Given the description of an element on the screen output the (x, y) to click on. 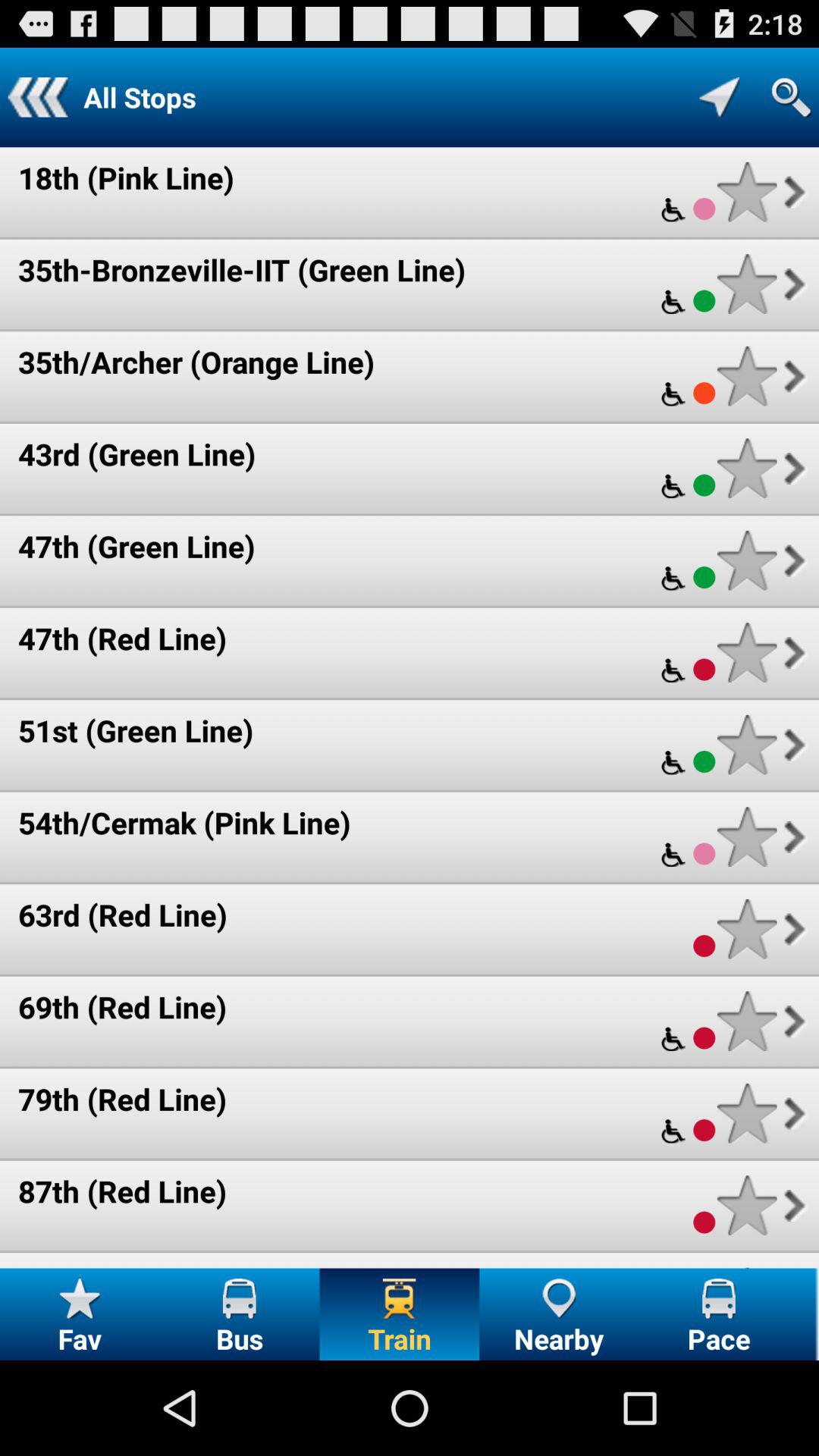
jump to the 95th/danryan(redline) app (180, 1265)
